Given the description of an element on the screen output the (x, y) to click on. 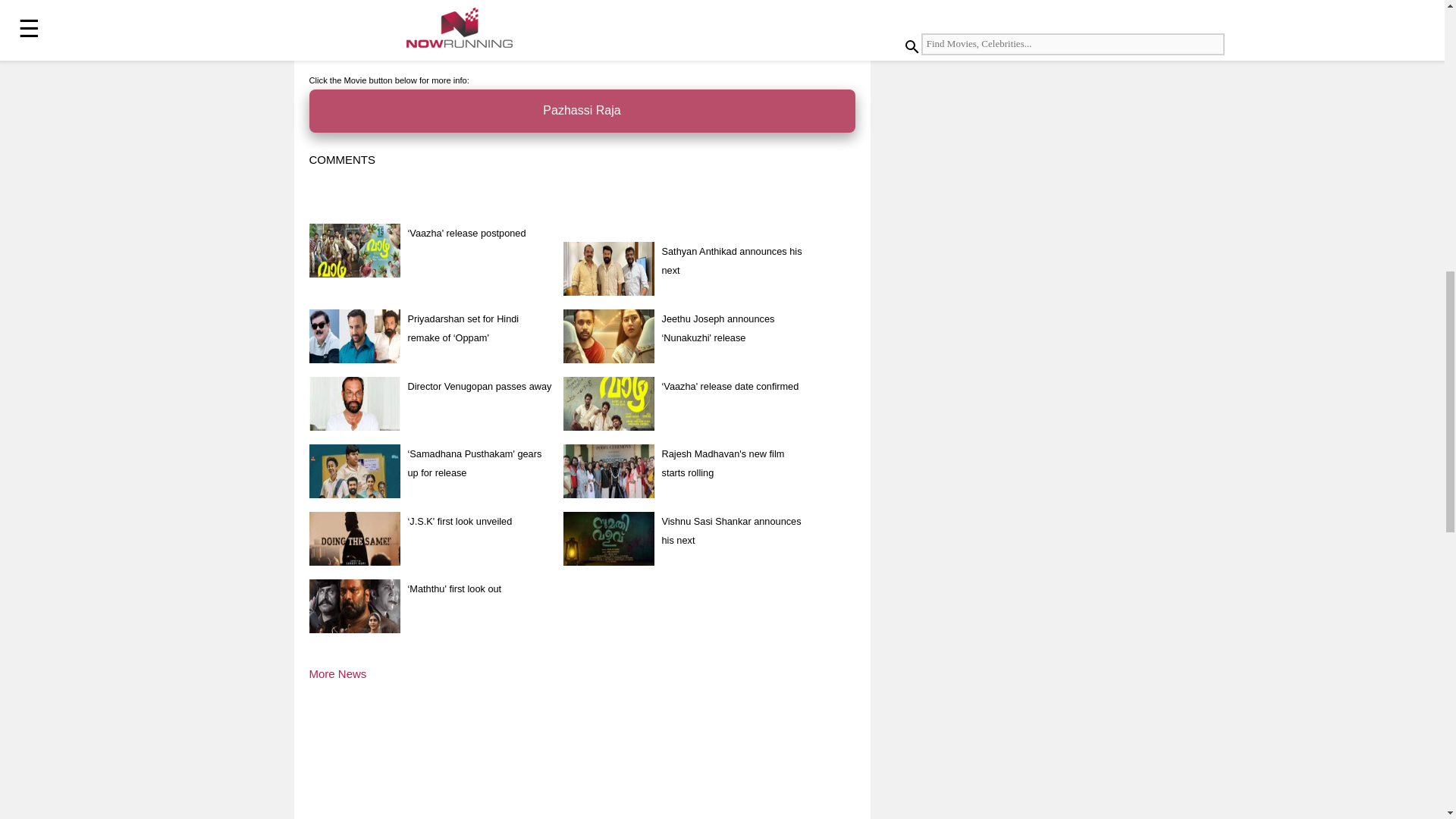
Vishnu Sasi Shankar announces his next (730, 530)
Rajesh Madhavan's new film starts rolling (722, 462)
Director Venugopan passes away (479, 386)
COMMENTS (341, 159)
More News (337, 673)
Sathyan Anthikad announces his next (731, 260)
Pazhassi Raja (582, 110)
